Given the description of an element on the screen output the (x, y) to click on. 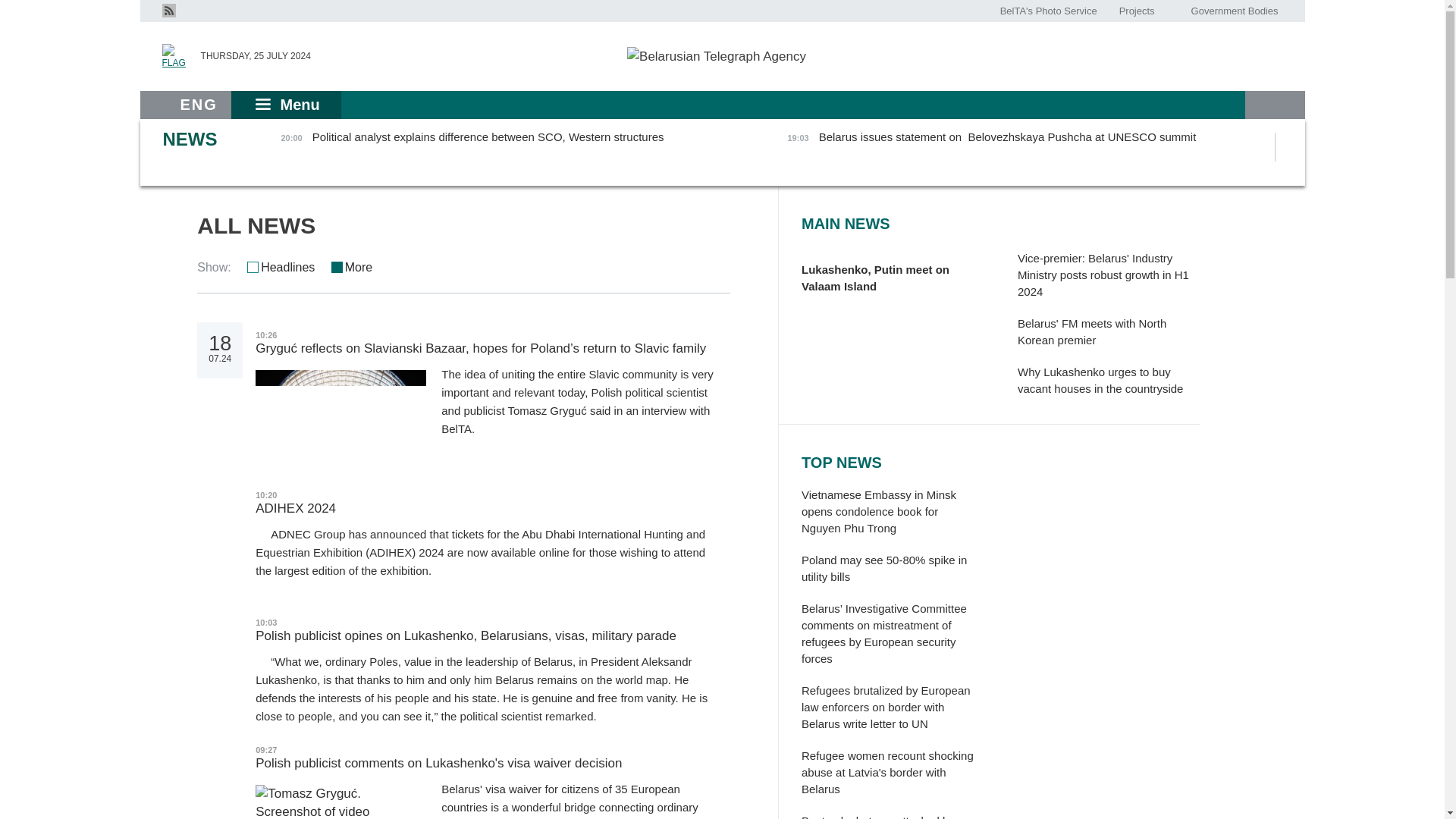
BelTA's Photo Service (1048, 11)
Projects (1136, 11)
Government Bodies (1233, 11)
Projects (1136, 11)
BelTA's Photo Service (1048, 11)
Government Bodies (1233, 11)
Rss (167, 9)
Rss (168, 10)
